Given the description of an element on the screen output the (x, y) to click on. 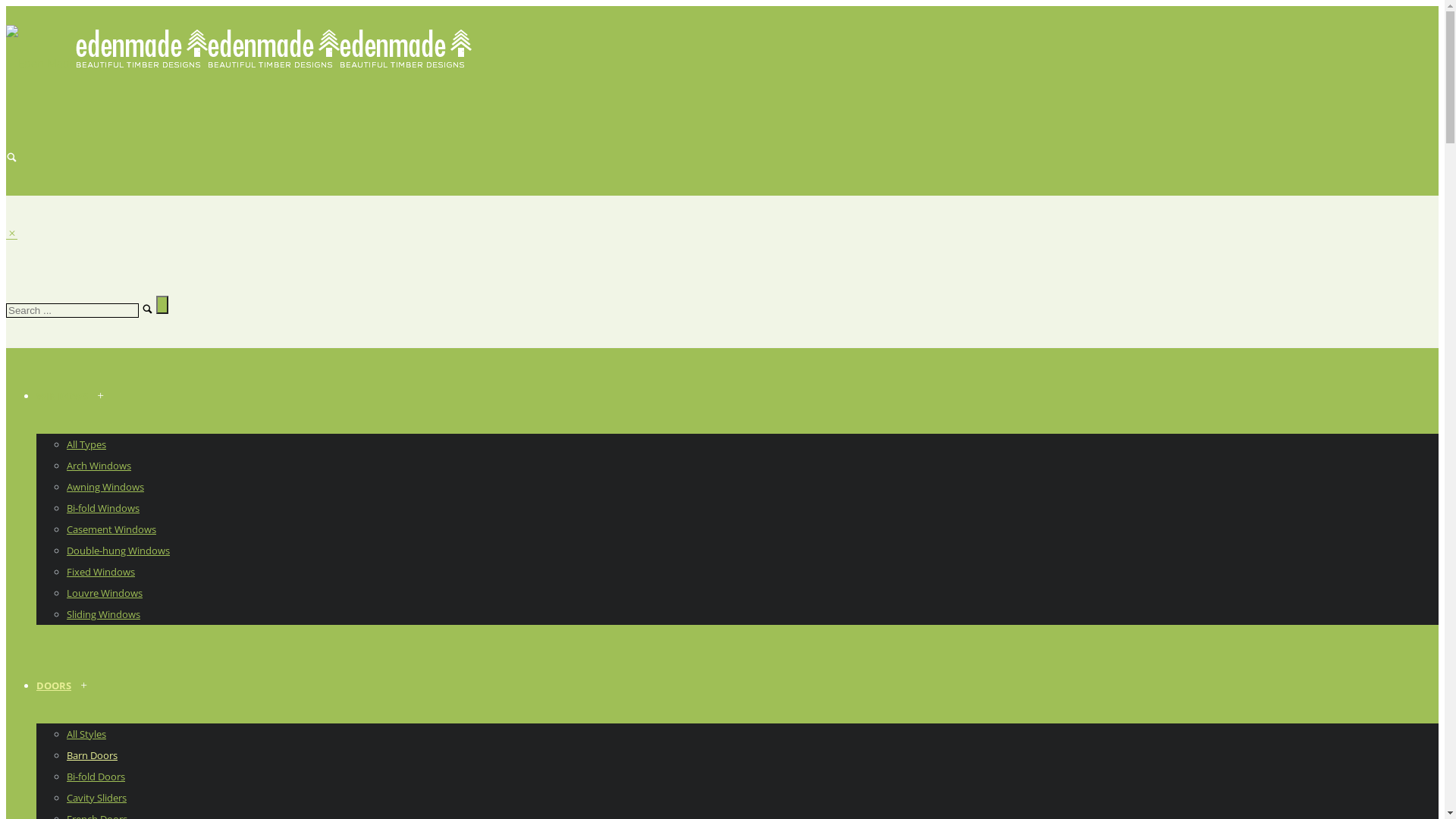
Double-hung Windows Element type: text (120, 550)
Casement Windows Element type: text (113, 529)
Bi-fold Windows Element type: text (105, 507)
DOORS Element type: text (56, 685)
Awning Windows Element type: text (107, 486)
All Types Element type: text (88, 444)
Barn Doors Element type: text (94, 755)
Sliding Windows Element type: text (105, 614)
Cavity Sliders Element type: text (98, 797)
Arch Windows Element type: text (101, 465)
WINDOWS Element type: text (64, 395)
All Styles Element type: text (88, 733)
Louvre Windows Element type: text (106, 592)
Fixed Windows Element type: text (103, 571)
Bi-fold Doors Element type: text (98, 776)
